Given the description of an element on the screen output the (x, y) to click on. 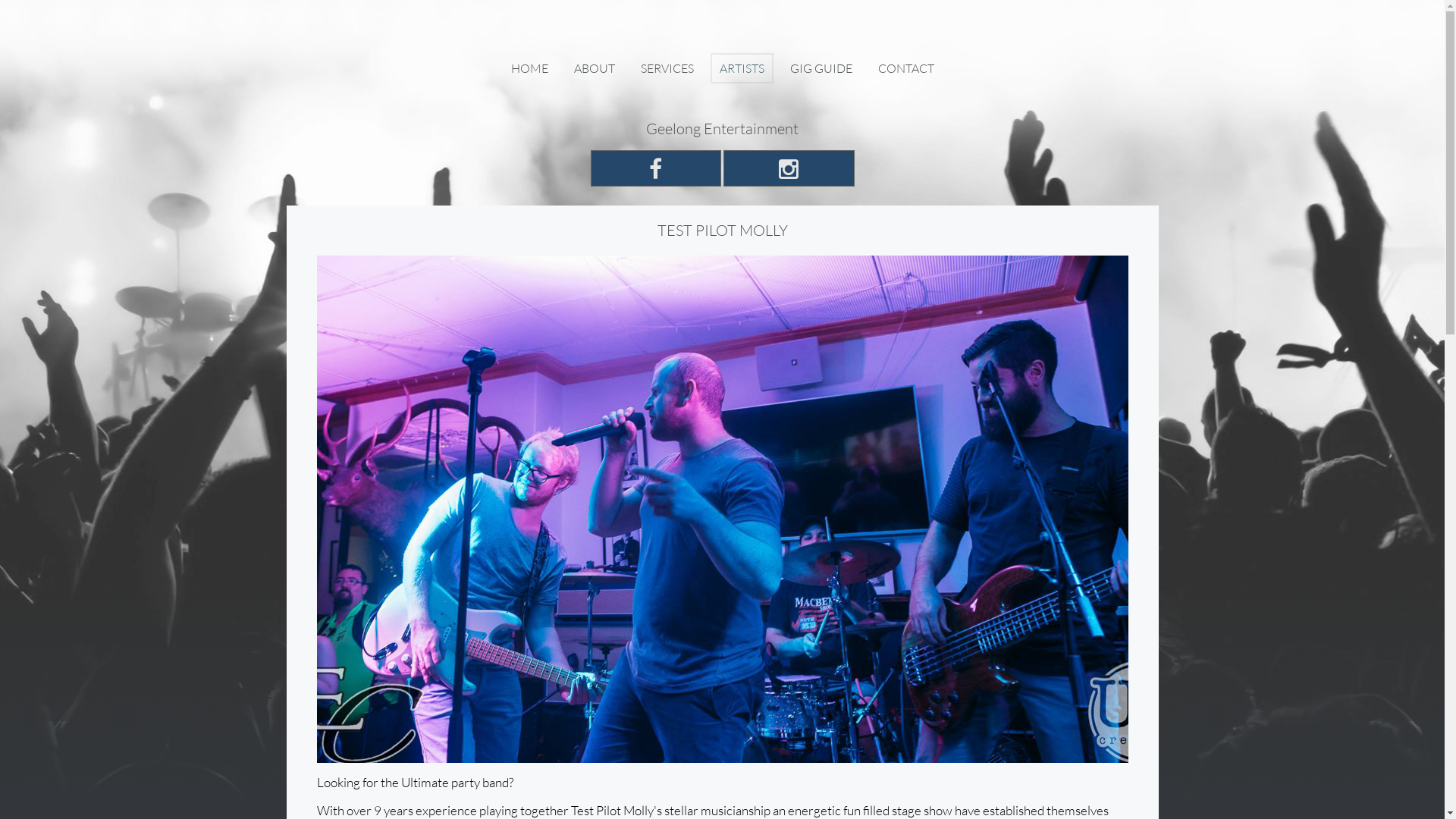
CONTACT Element type: text (906, 68)
ARTISTS Element type: text (740, 68)
ABOUT Element type: text (593, 68)
HOME Element type: text (529, 68)
GIG GUIDE Element type: text (821, 68)
SERVICES Element type: text (666, 68)
